Given the description of an element on the screen output the (x, y) to click on. 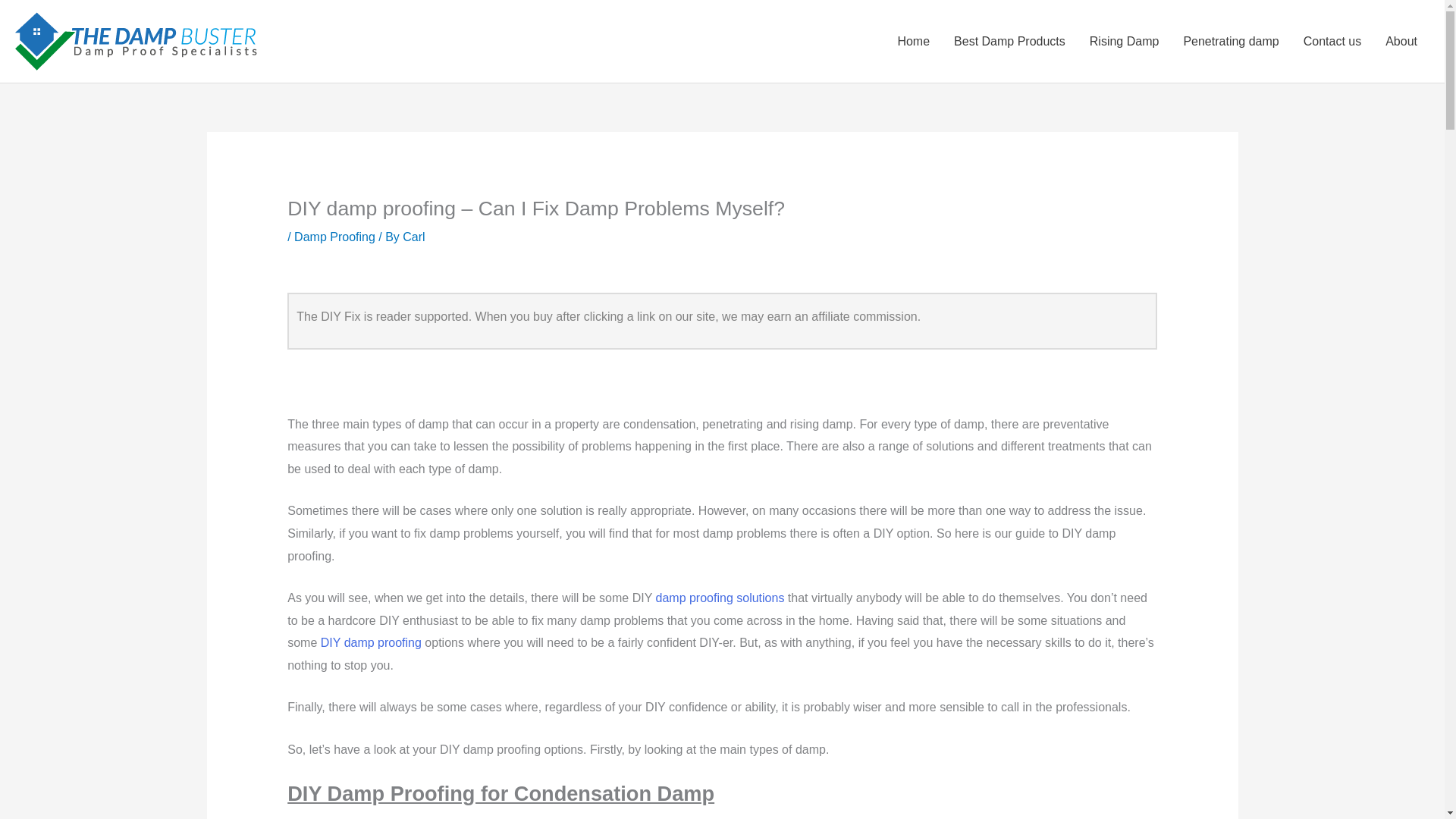
Contact us (1332, 41)
Carl (414, 236)
Home (913, 41)
Rising Damp (1124, 41)
Best Damp Products (1009, 41)
About (1401, 41)
Damp Proofing (334, 236)
Penetrating damp (1230, 41)
View all posts by Carl (414, 236)
DIY damp proofing (371, 642)
damp proofing solutions (719, 597)
